Given the description of an element on the screen output the (x, y) to click on. 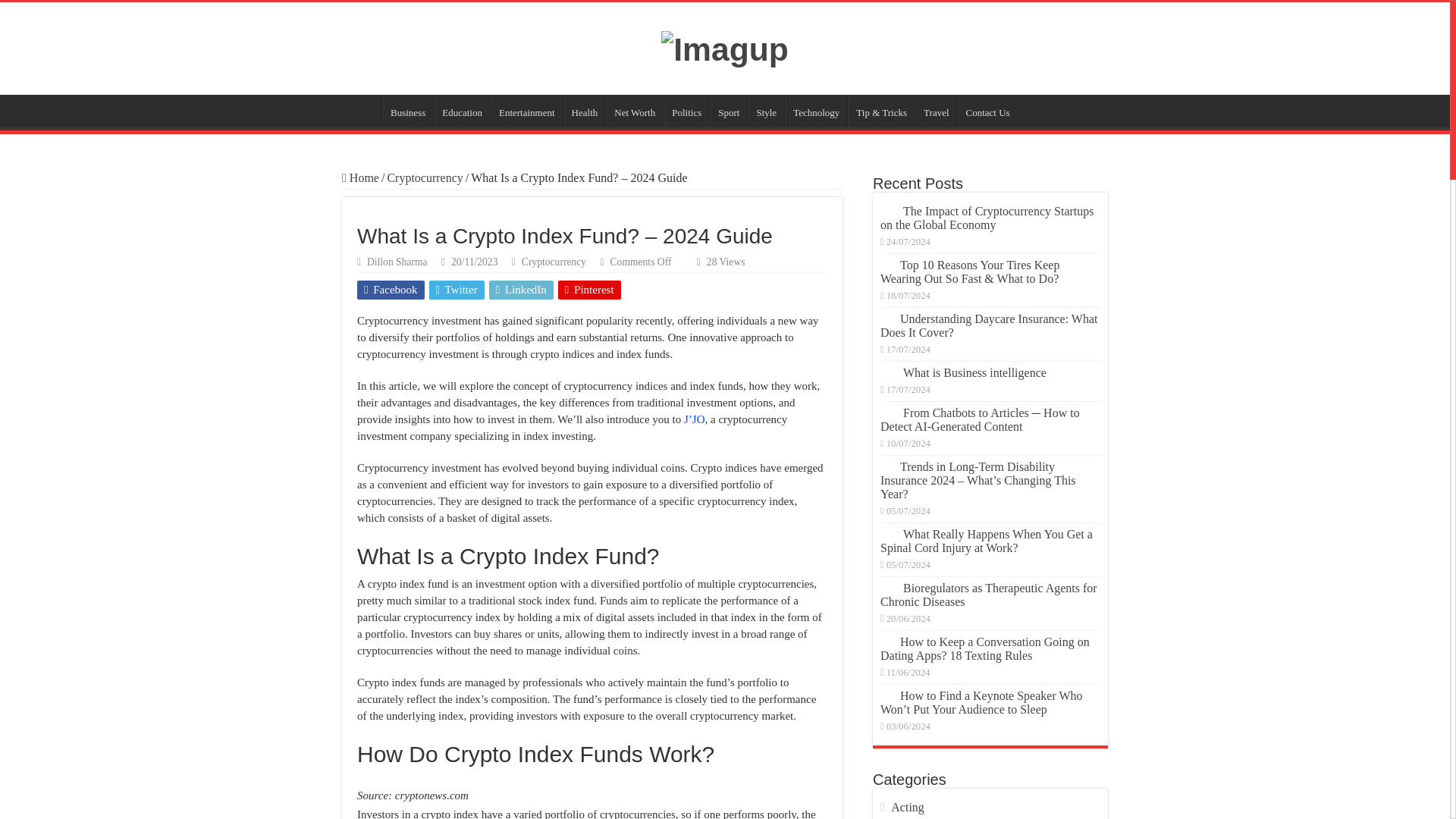
Pinterest (589, 289)
Education (461, 110)
LinkedIn (521, 289)
Style (766, 110)
Technology (815, 110)
Home (360, 177)
Health (584, 110)
Imagup (725, 46)
Home (361, 110)
Politics (686, 110)
Travel (935, 110)
Cryptocurrency (553, 261)
Cryptocurrency (425, 177)
Sport (728, 110)
